Given the description of an element on the screen output the (x, y) to click on. 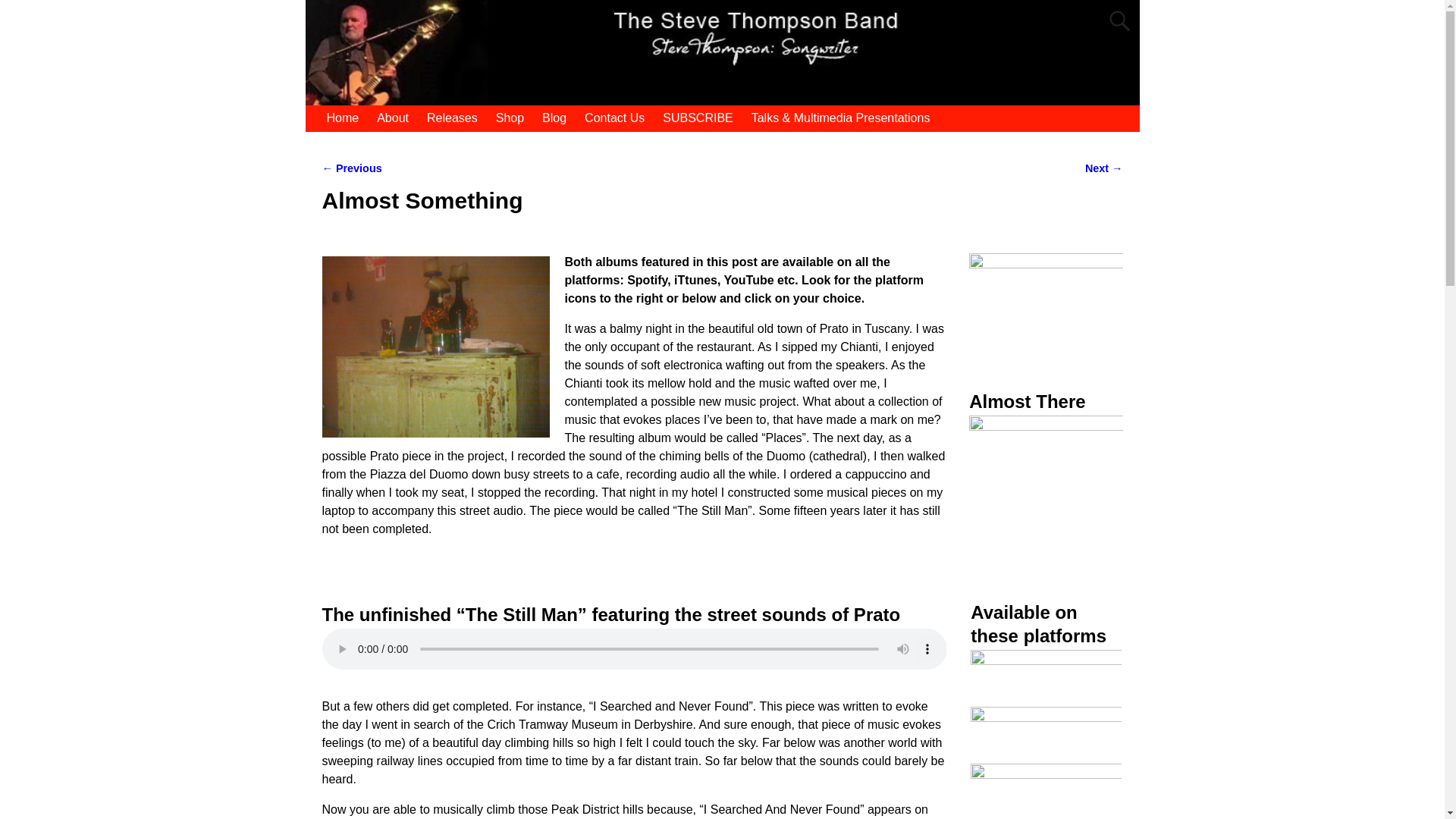
Releases (451, 118)
Contact Us (614, 118)
Shop (509, 118)
About (392, 118)
Blog (553, 118)
Home (342, 118)
SUBSCRIBE (697, 118)
